Given the description of an element on the screen output the (x, y) to click on. 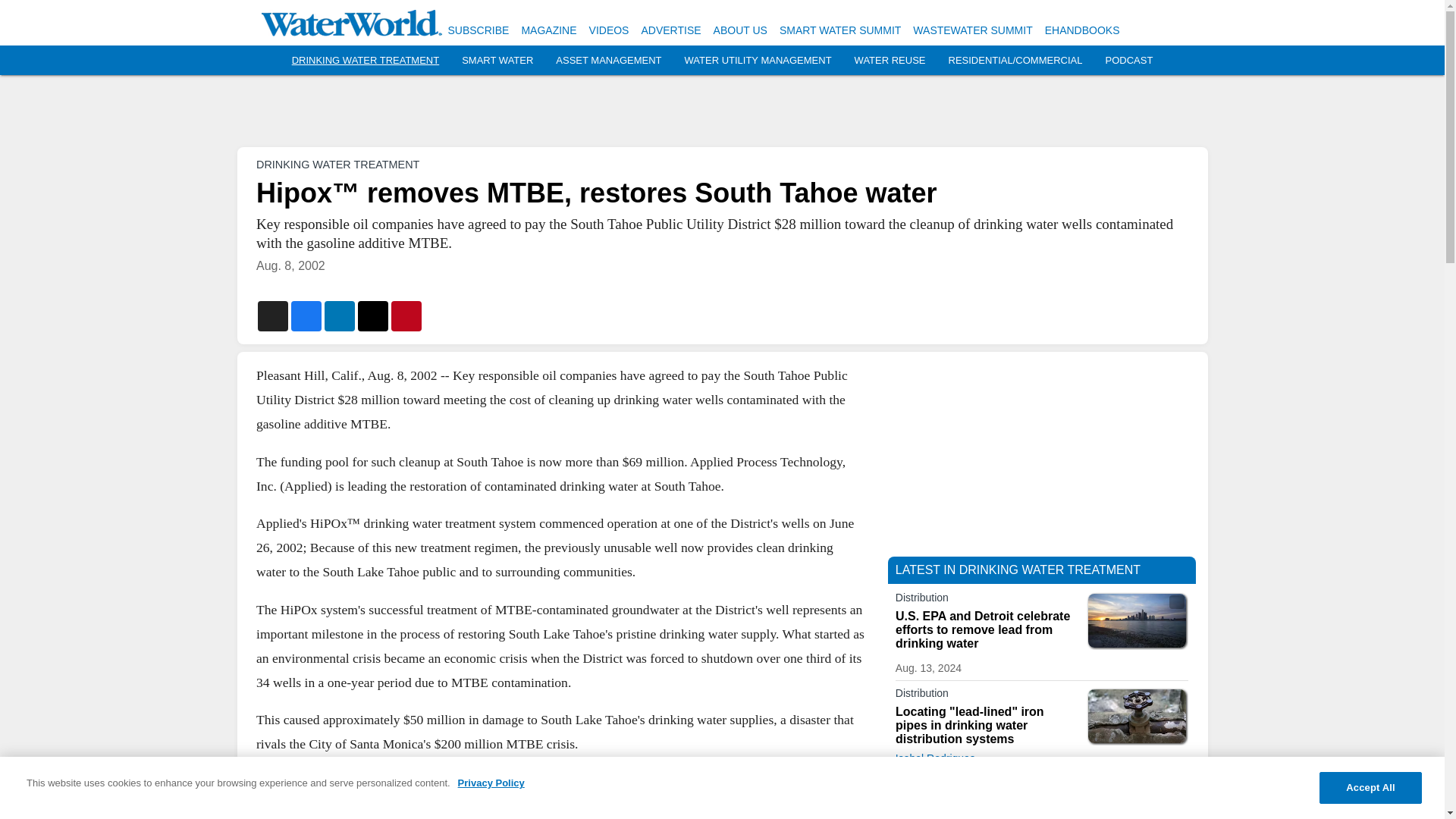
SMART WATER (496, 60)
ABOUT US (740, 30)
WATER UTILITY MANAGEMENT (757, 60)
WASTEWATER SUMMIT (972, 30)
ADVERTISE (670, 30)
LATEST IN DRINKING WATER TREATMENT (1017, 569)
SUBSCRIBE (477, 30)
MAGAZINE (548, 30)
VIDEOS (608, 30)
EHANDBOOKS (1082, 30)
